Given the description of an element on the screen output the (x, y) to click on. 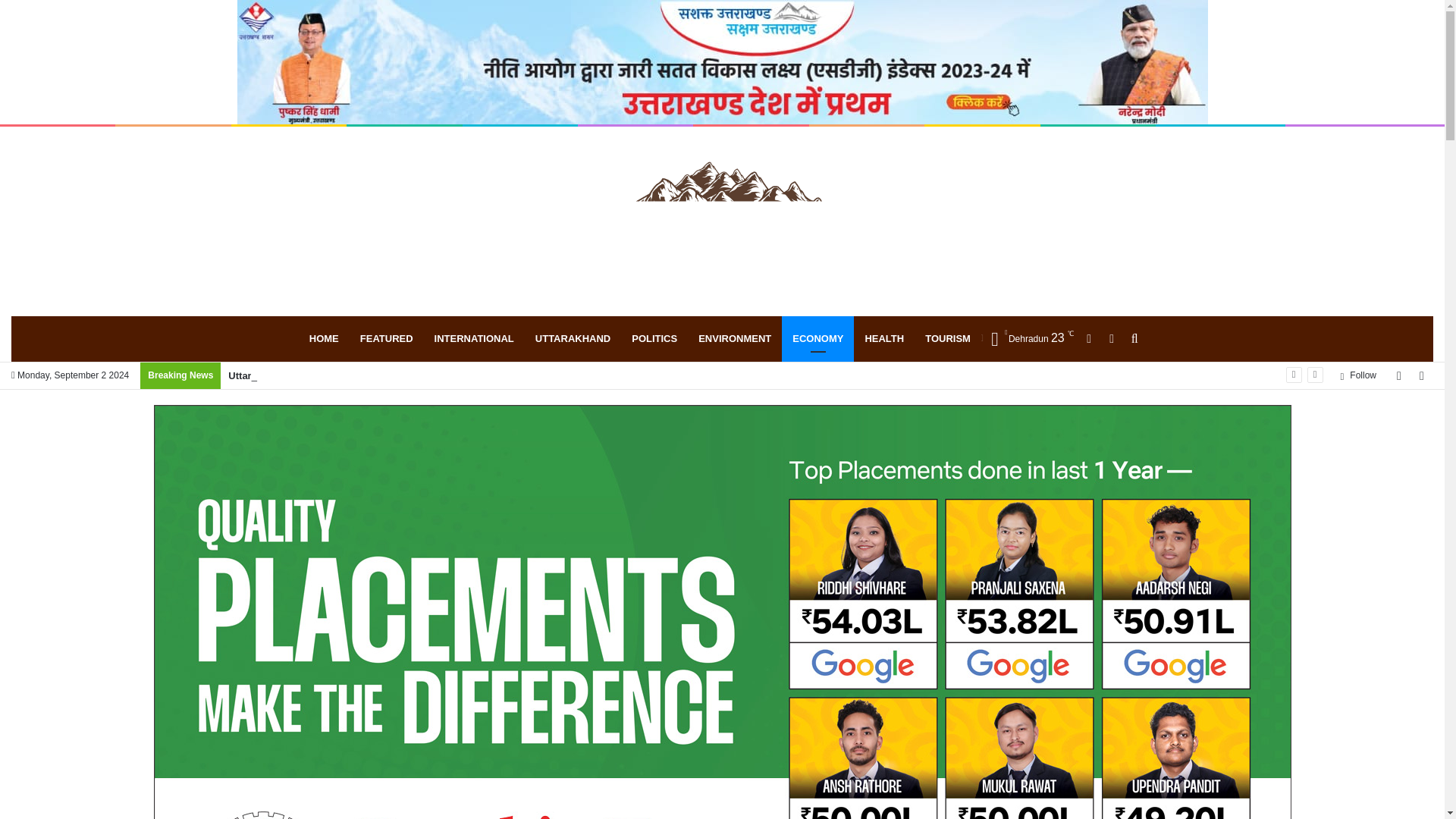
UTTARAKHAND (572, 338)
ECONOMY (817, 338)
FEATURED (386, 338)
Scattered Clouds (1027, 338)
INTERNATIONAL (473, 338)
HOME (323, 338)
ENVIRONMENT (734, 338)
HEALTH (883, 338)
TOURISM (947, 338)
Follow (1358, 375)
